Given the description of an element on the screen output the (x, y) to click on. 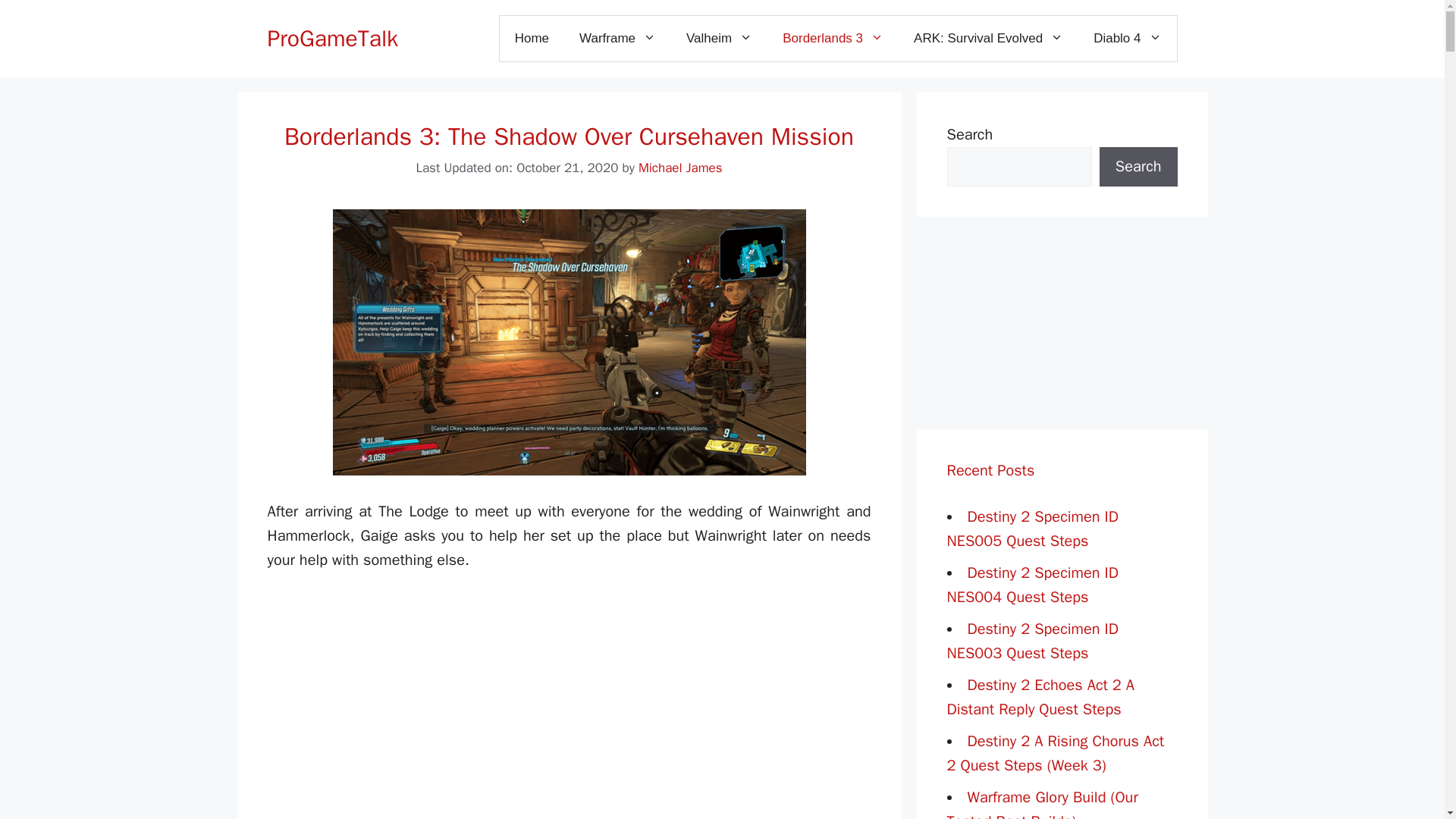
Borderlands 3 (832, 38)
Diablo 4 (1127, 38)
Home (531, 38)
Valheim (719, 38)
View all posts by Michael James (680, 167)
ProGameTalk (331, 38)
Warframe (617, 38)
ARK: Survival Evolved (988, 38)
